Given the description of an element on the screen output the (x, y) to click on. 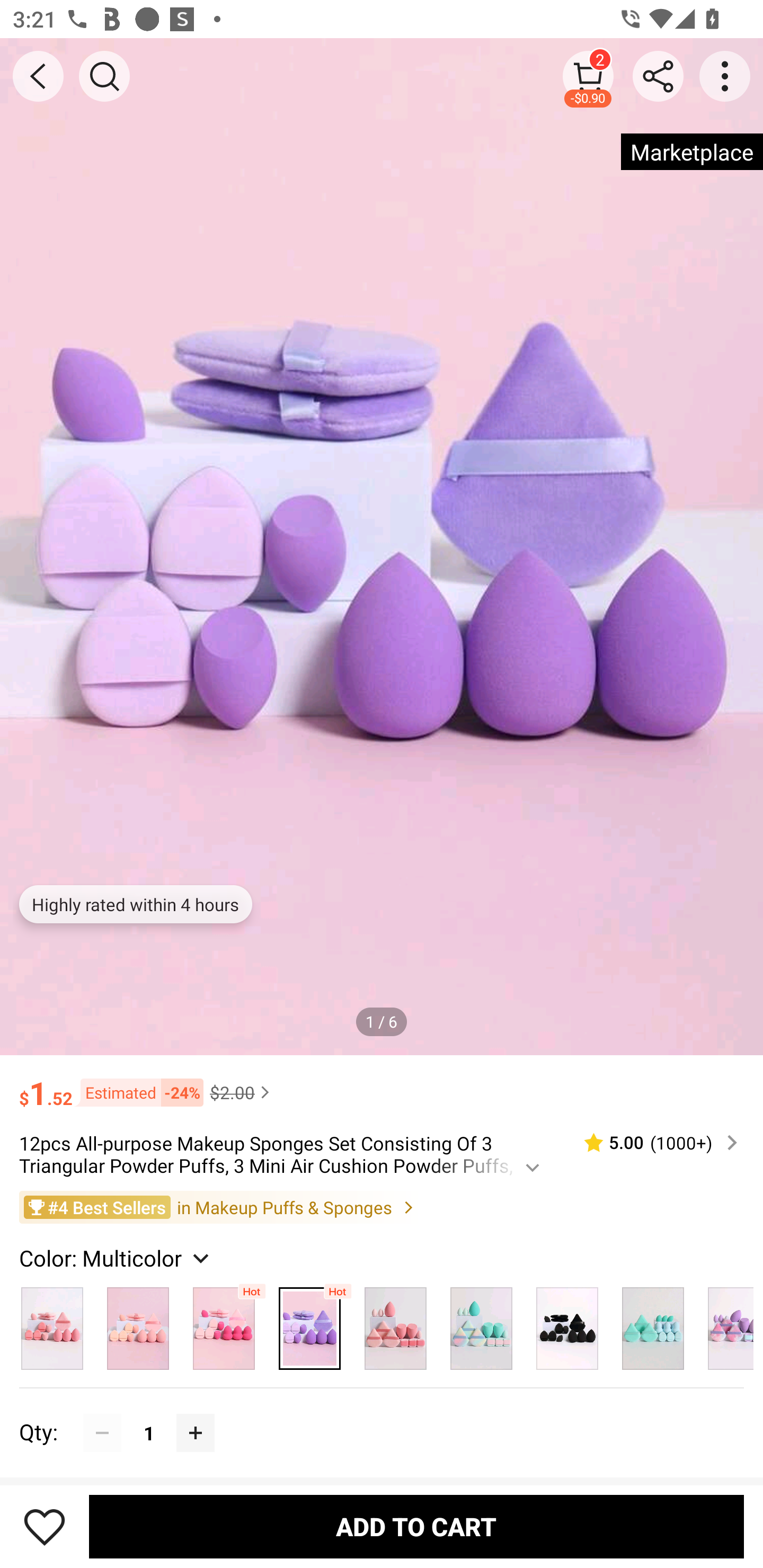
BACK (38, 75)
2 -$0.90 (588, 75)
1 / 6 (381, 1021)
$1.52 Estimated -24% $2.00 (381, 1084)
Estimated -24% (137, 1092)
$2.00 (241, 1091)
5.00 (1000‎+) (653, 1142)
#4 Best Sellers in Makeup Puffs & Sponges (381, 1206)
Color: Multicolor (116, 1258)
Multicolor (52, 1324)
Pink (138, 1324)
Multicolor (224, 1324)
Multicolor (309, 1324)
Multicolor (395, 1324)
Multicolor (481, 1324)
Multicolor (567, 1324)
Multicolor (652, 1324)
Multicolor (724, 1324)
Qty: 1 (381, 1413)
ADD TO CART (416, 1526)
Save (44, 1526)
